Given the description of an element on the screen output the (x, y) to click on. 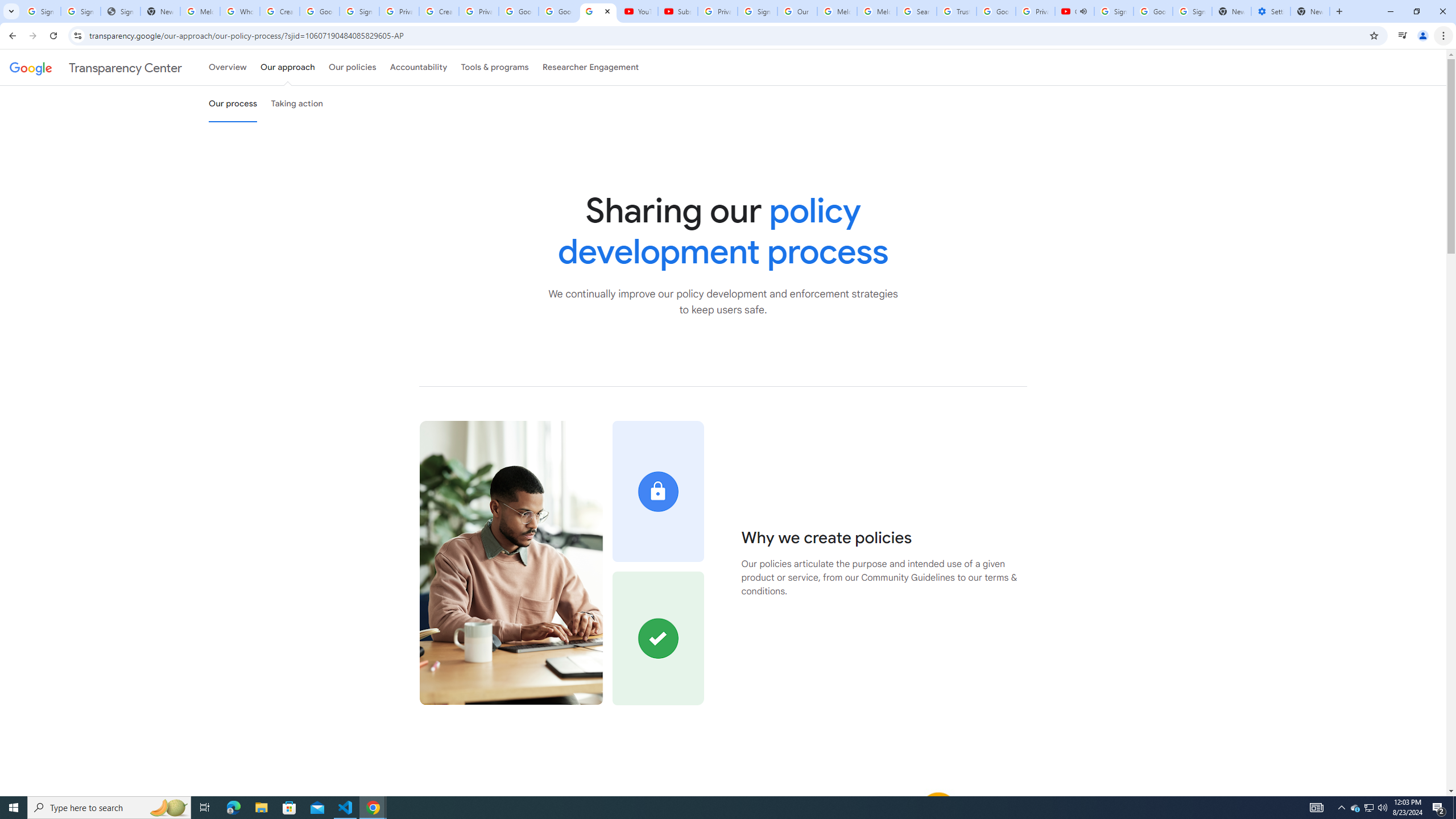
Sign in - Google Accounts (757, 11)
Researcher Engagement (590, 67)
Trusted Information and Content - Google Safety Center (956, 11)
Our policies (351, 67)
Taking action (296, 103)
Sign in - Google Accounts (1113, 11)
